Given the description of an element on the screen output the (x, y) to click on. 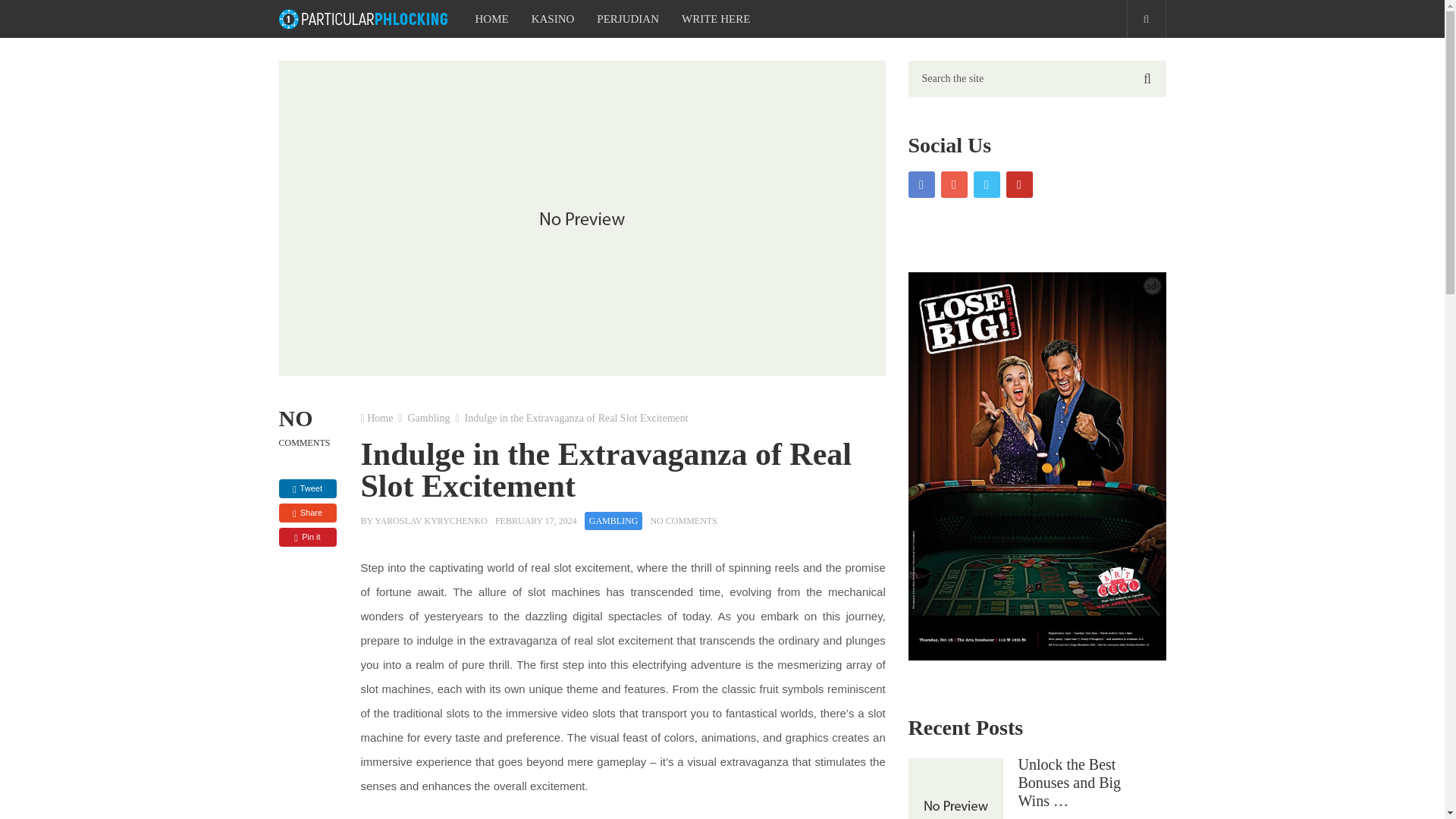
Gambling (428, 418)
Pin it (307, 537)
HOME (491, 18)
Share (307, 512)
Home (379, 418)
KASINO (552, 18)
Posts by Yaroslav Kyrychenko (430, 520)
YAROSLAV KYRYCHENKO (430, 520)
Tweet (307, 488)
Facebook (921, 184)
WRITE HERE (715, 18)
GAMBLING (614, 520)
NO COMMENTS (682, 520)
View all posts in Gambling (614, 520)
PERJUDIAN (627, 18)
